Given the description of an element on the screen output the (x, y) to click on. 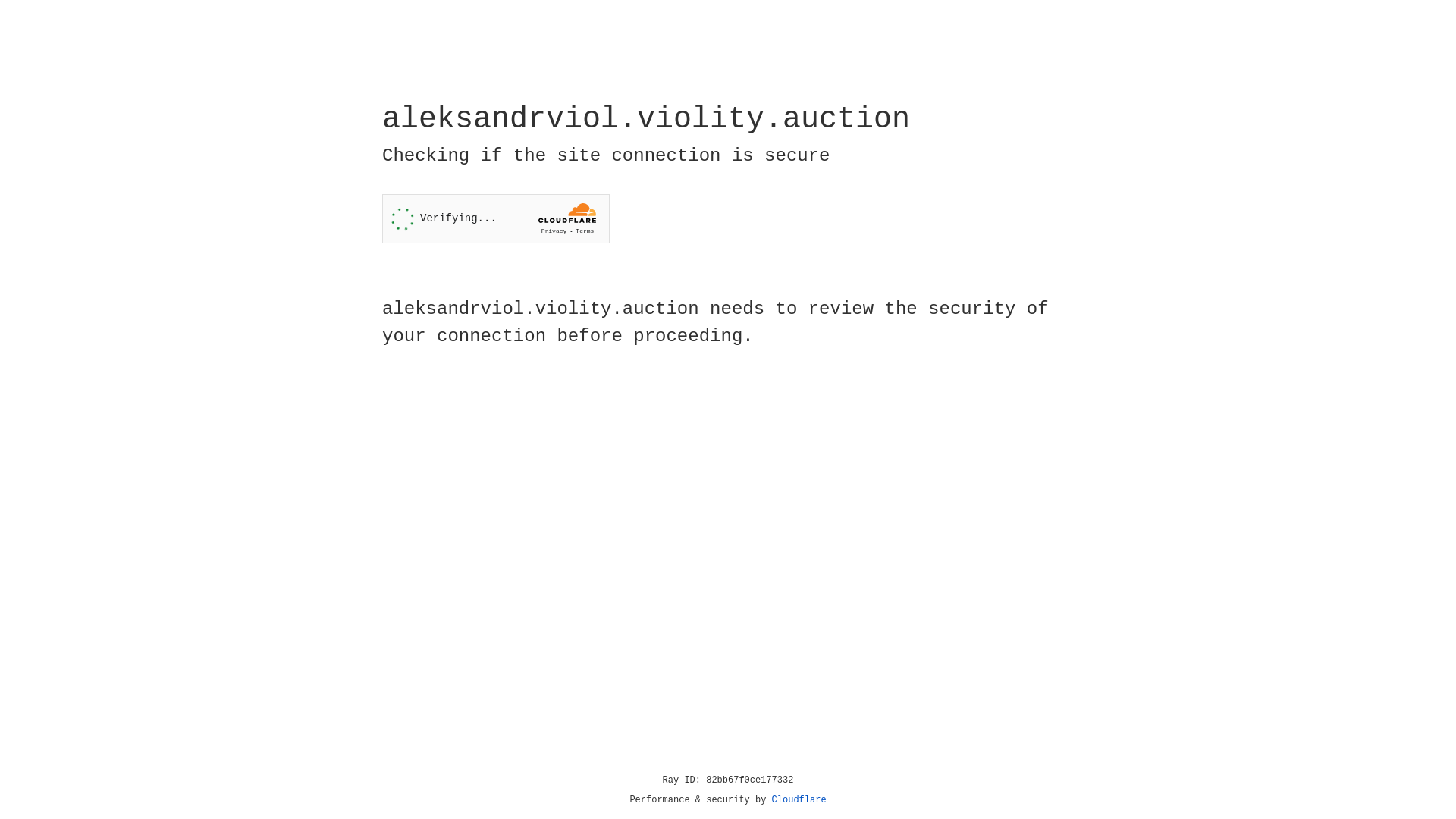
Cloudflare Element type: text (798, 799)
Widget containing a Cloudflare security challenge Element type: hover (495, 218)
